Given the description of an element on the screen output the (x, y) to click on. 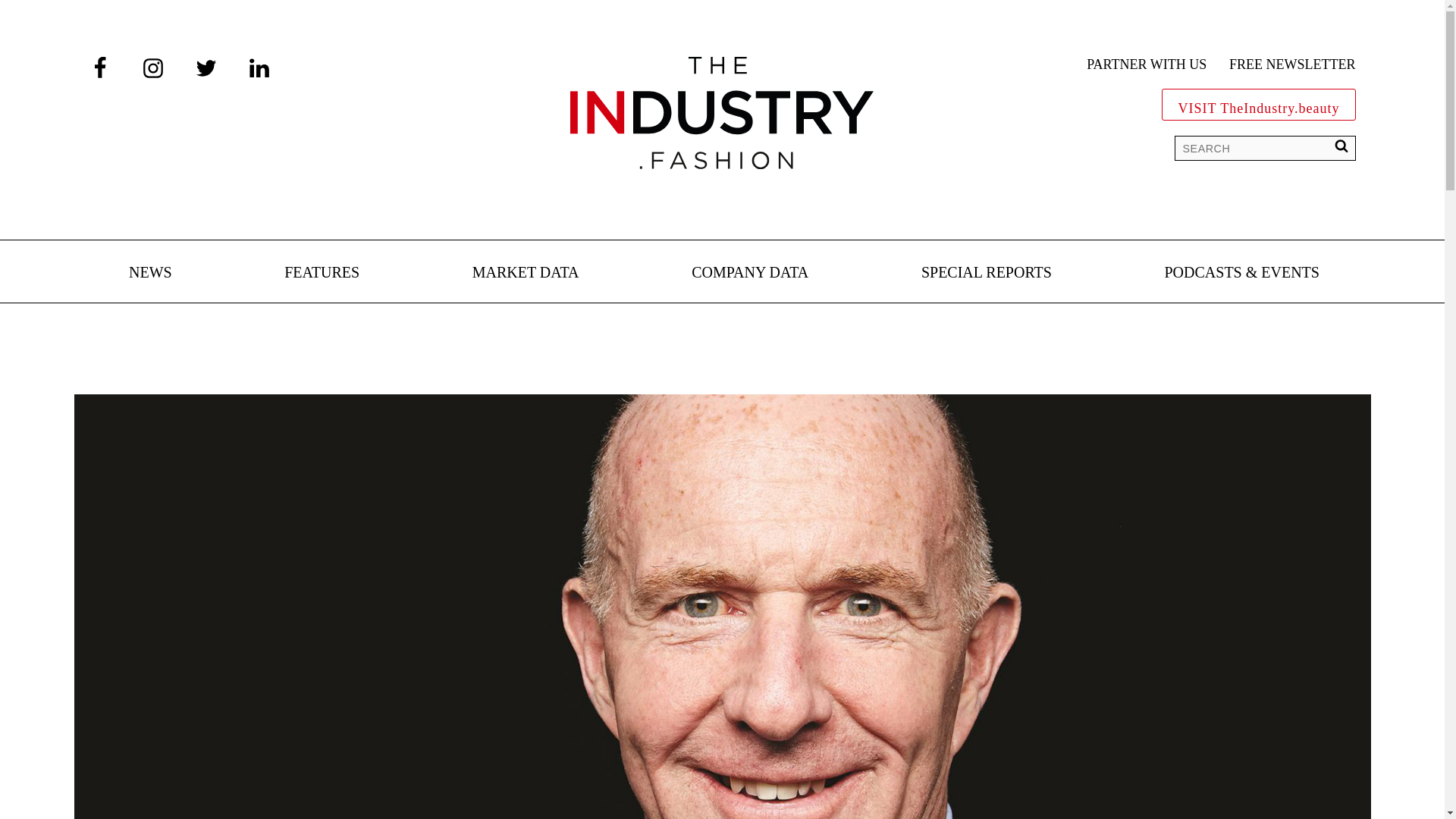
MARKET DATA (525, 273)
COMPANY DATA (749, 273)
FEATURES (321, 273)
PARTNER WITH US (1146, 64)
NEWS (150, 273)
FREE NEWSLETTER (1291, 64)
Go (22, 15)
SPECIAL REPORTS (986, 273)
VISIT TheIndustry.beauty (1258, 104)
